Given the description of an element on the screen output the (x, y) to click on. 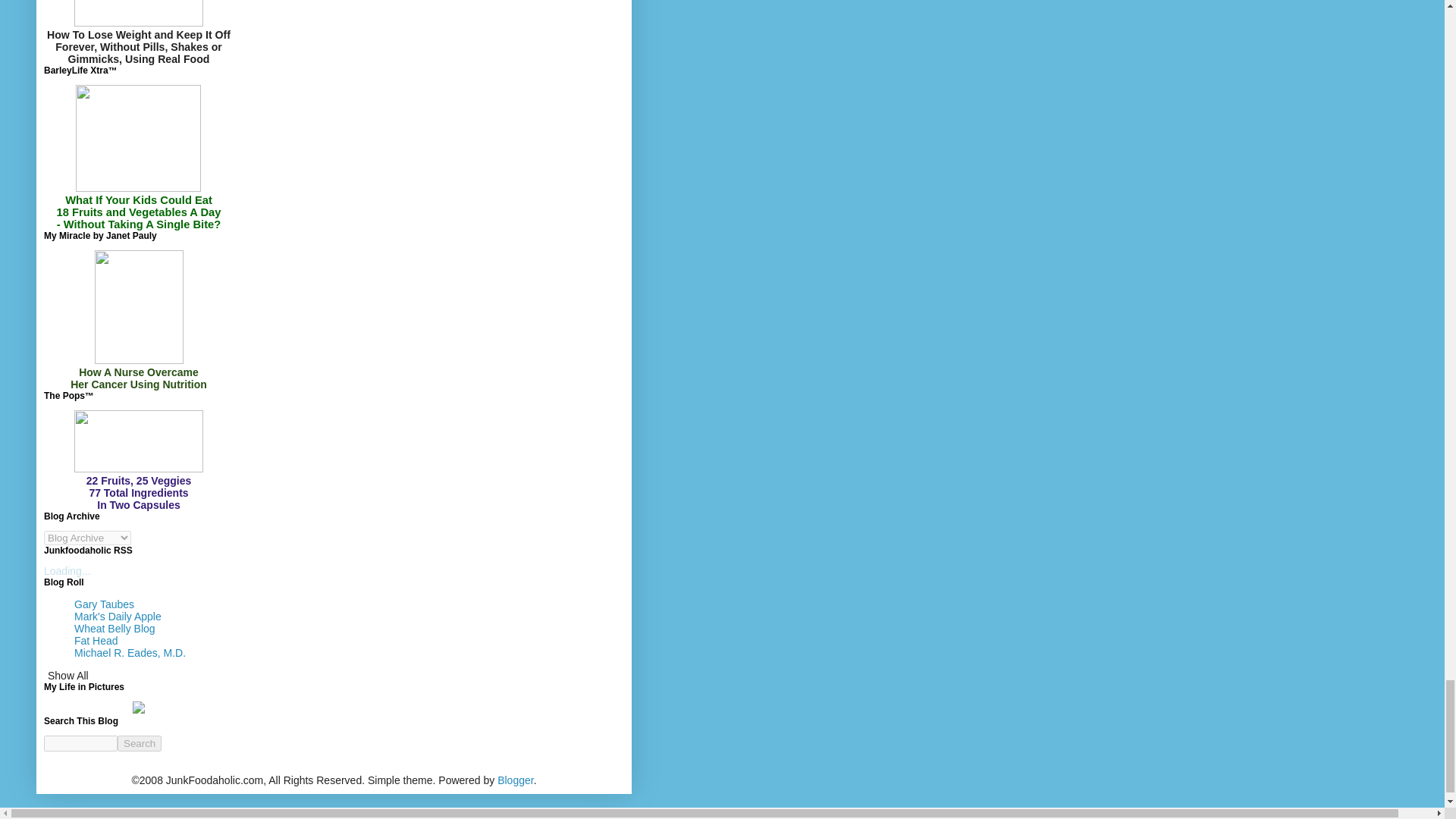
Search (139, 743)
Search (139, 743)
